Given the description of an element on the screen output the (x, y) to click on. 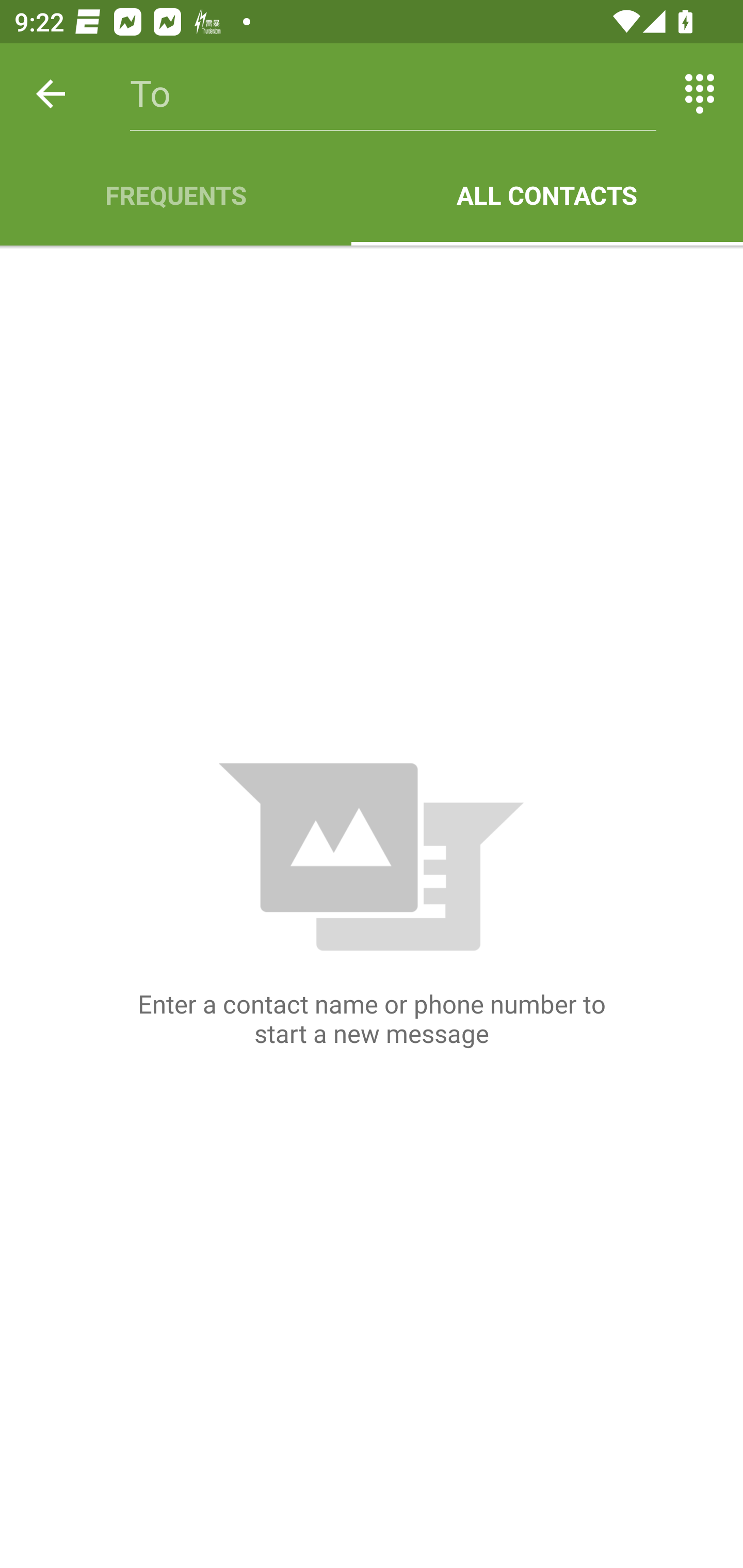
Back (50, 93)
Switch between entering text and numbers (699, 93)
To (393, 93)
FREQUENTS (175, 195)
ALL CONTACTS (547, 195)
